Given the description of an element on the screen output the (x, y) to click on. 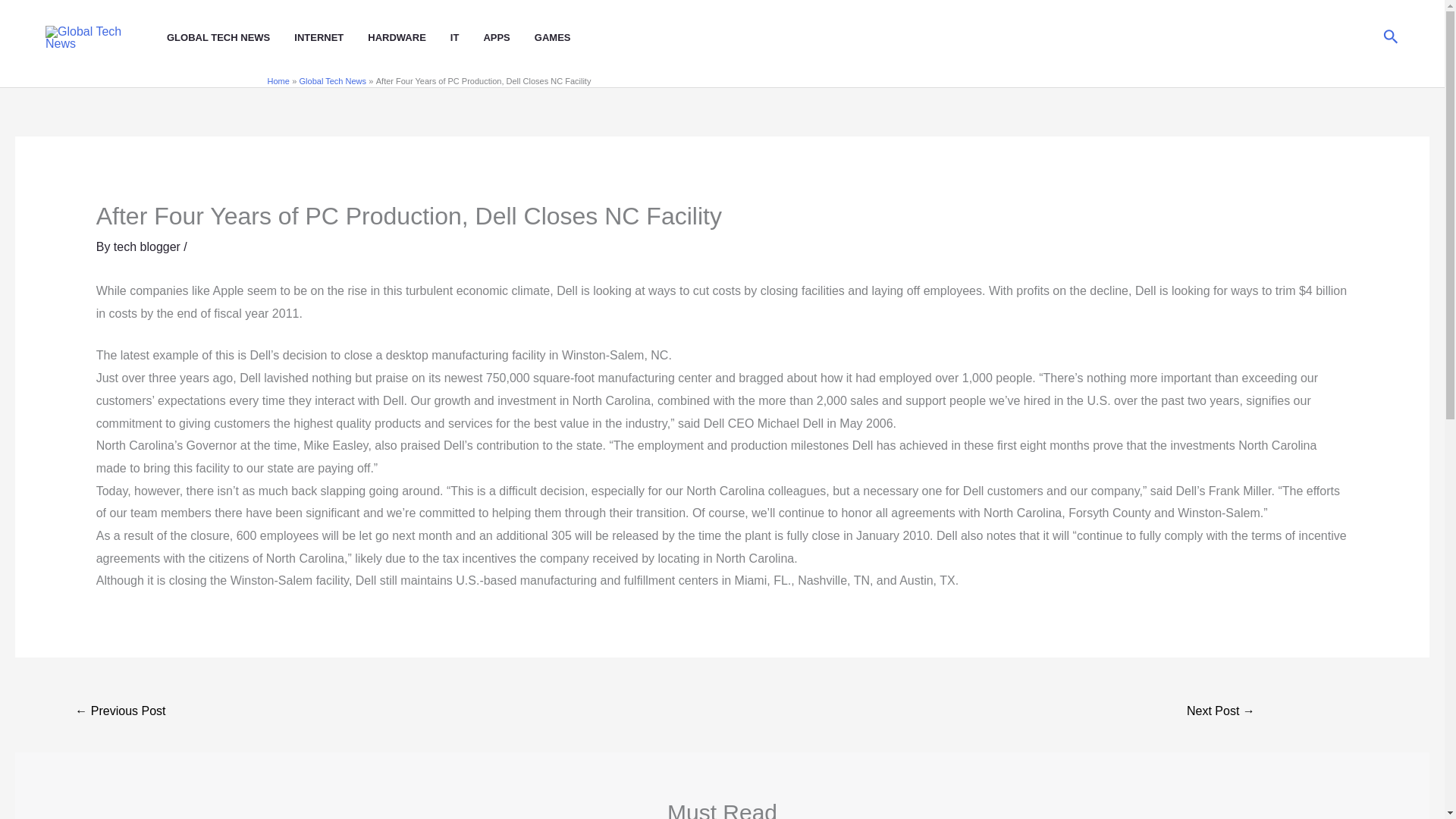
View all posts by tech blogger (148, 246)
tech blogger (148, 246)
Home (277, 80)
HARDWARE (408, 38)
GLOBAL TECH NEWS (230, 38)
"Always On" Kinect 2 Allows TV Ads to Control Your Xbox (1220, 712)
Global Tech News (332, 80)
INTERNET (331, 38)
